Given the description of an element on the screen output the (x, y) to click on. 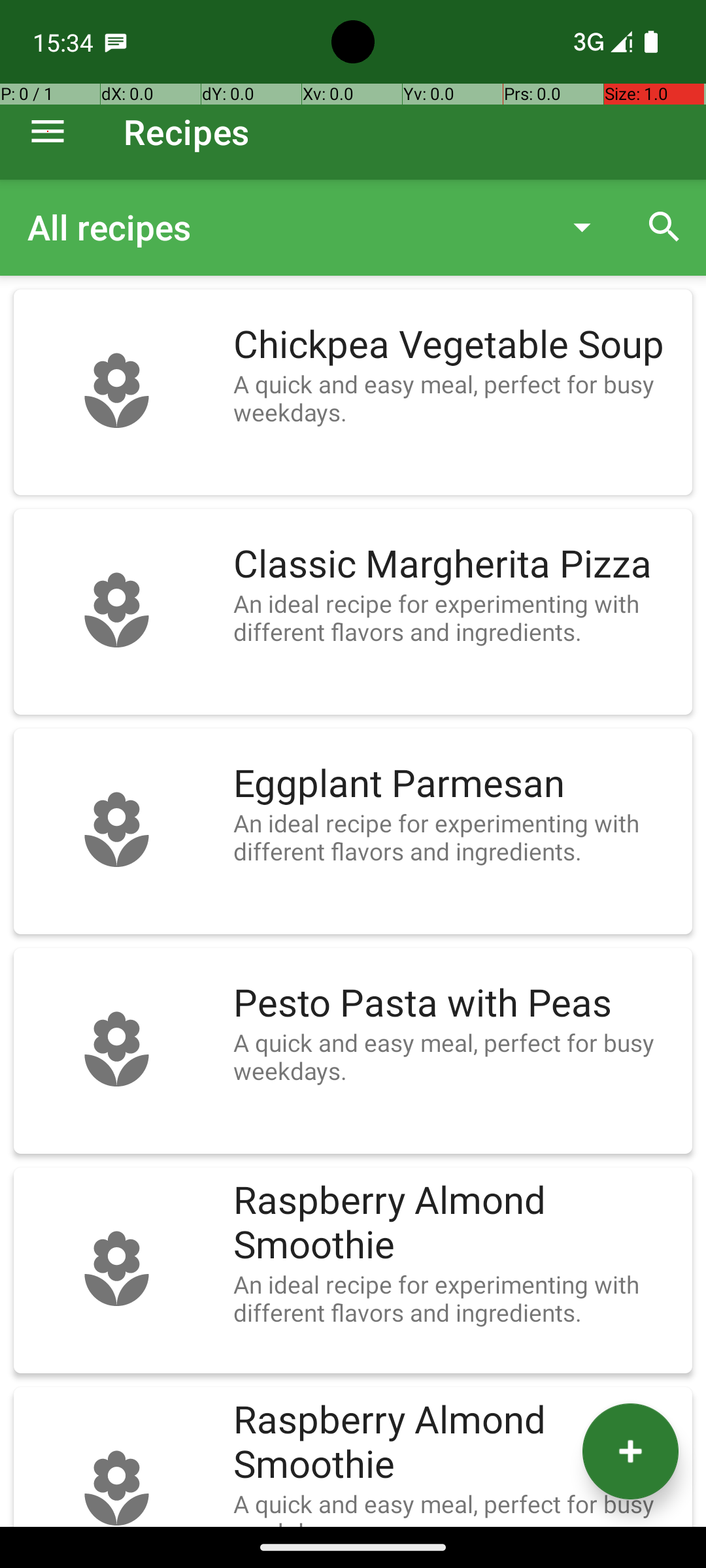
Pesto Pasta with Peas Element type: android.widget.TextView (455, 1003)
Raspberry Almond Smoothie Element type: android.widget.TextView (455, 1222)
